Given the description of an element on the screen output the (x, y) to click on. 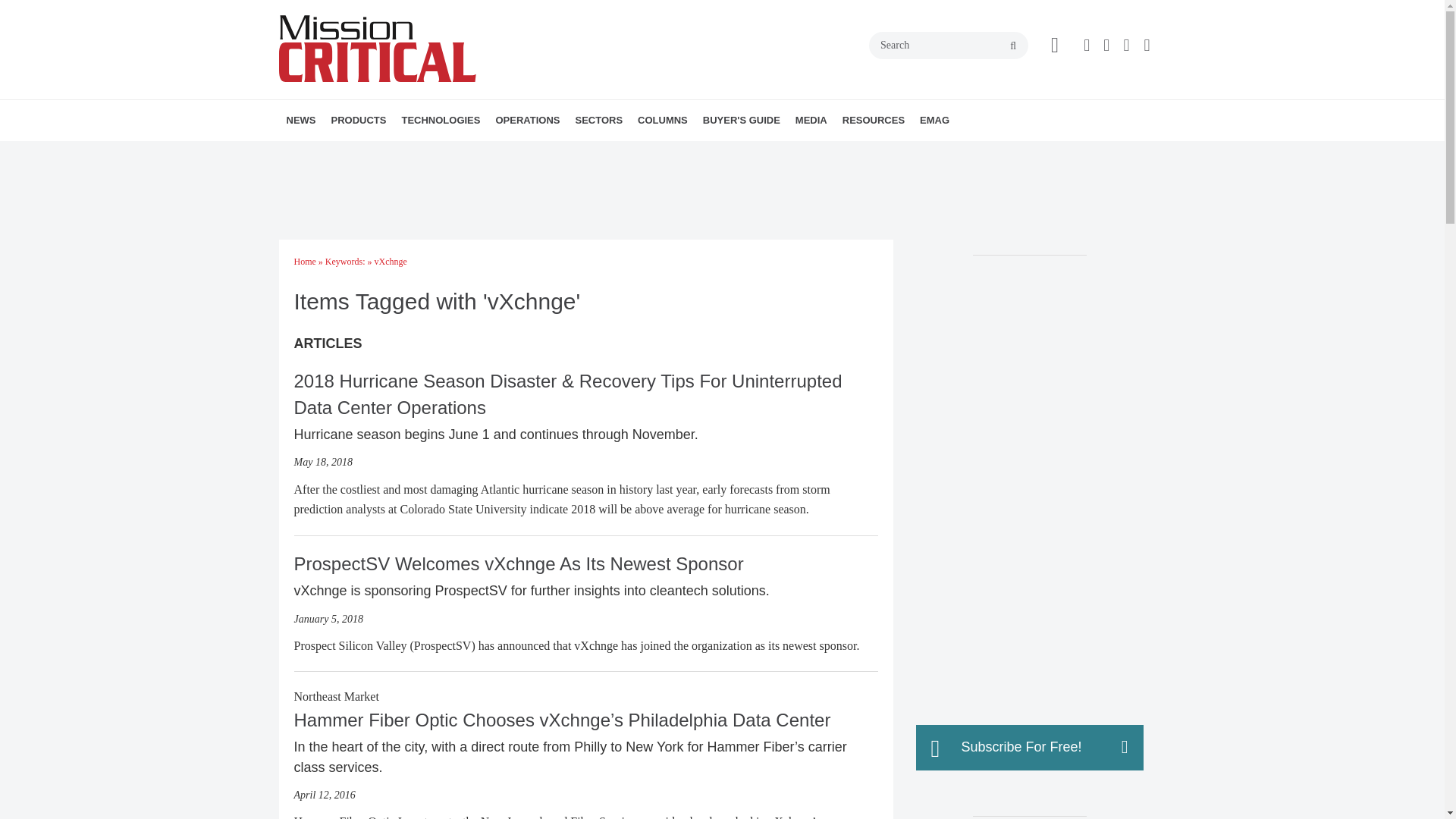
SAFETY (595, 153)
TECHNOLOGIES (440, 119)
NEW PRODUCTS (417, 153)
Search (948, 44)
Search (948, 44)
cart (1054, 45)
INFRASTRUCTURE (488, 153)
SITE SELECTION (582, 153)
OPERATIONS (527, 119)
TOP TIER PRODUCT AWARDS (424, 153)
SECTORS (598, 119)
AI (501, 153)
SUSTAINABILITY (600, 153)
COOLING (522, 153)
BFSI (662, 153)
